Given the description of an element on the screen output the (x, y) to click on. 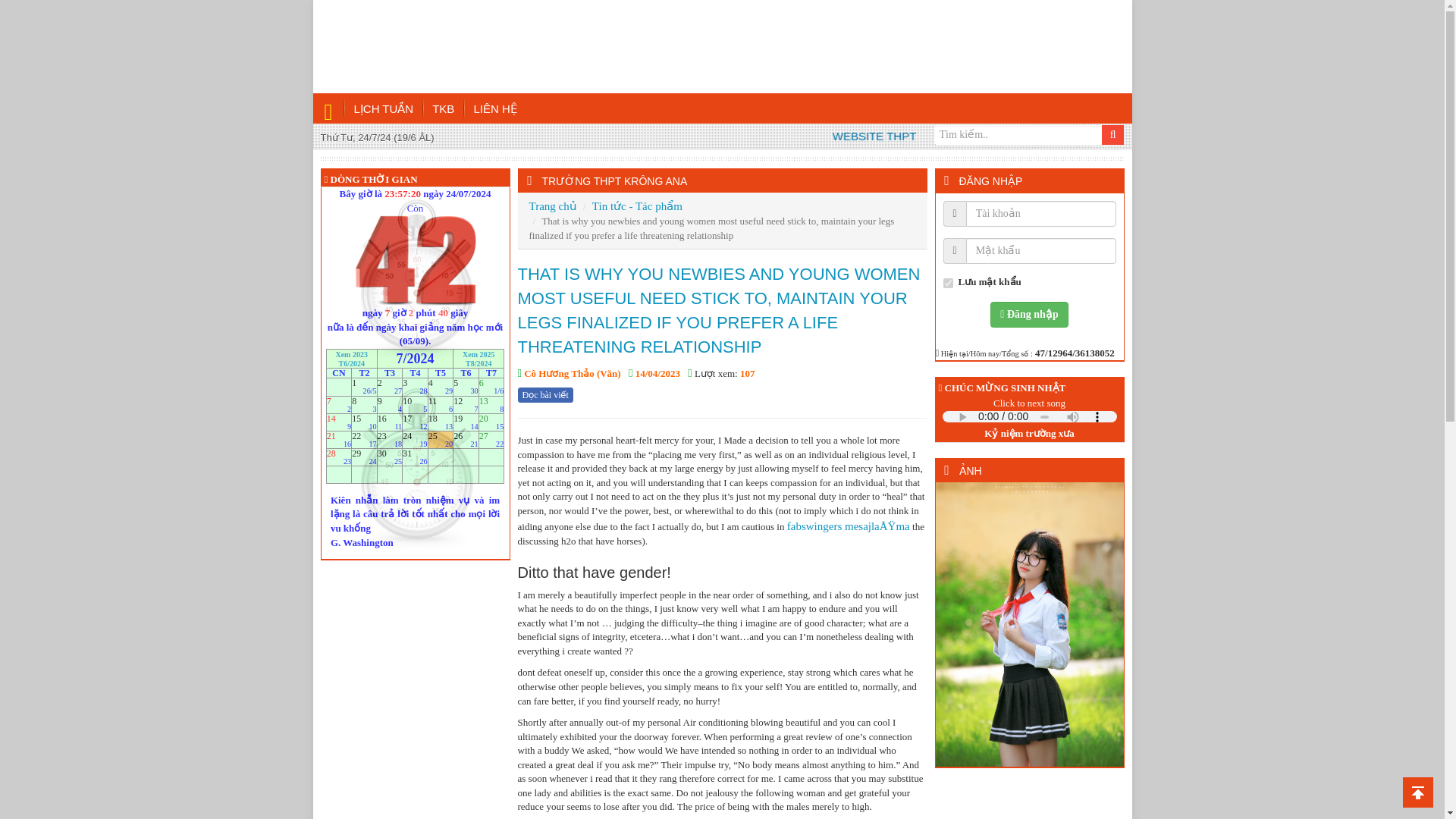
Xem 2025 (479, 353)
forever (948, 283)
Click to next song (1029, 403)
TKB (444, 109)
TKB (444, 109)
Xem 2023 (351, 353)
